Given the description of an element on the screen output the (x, y) to click on. 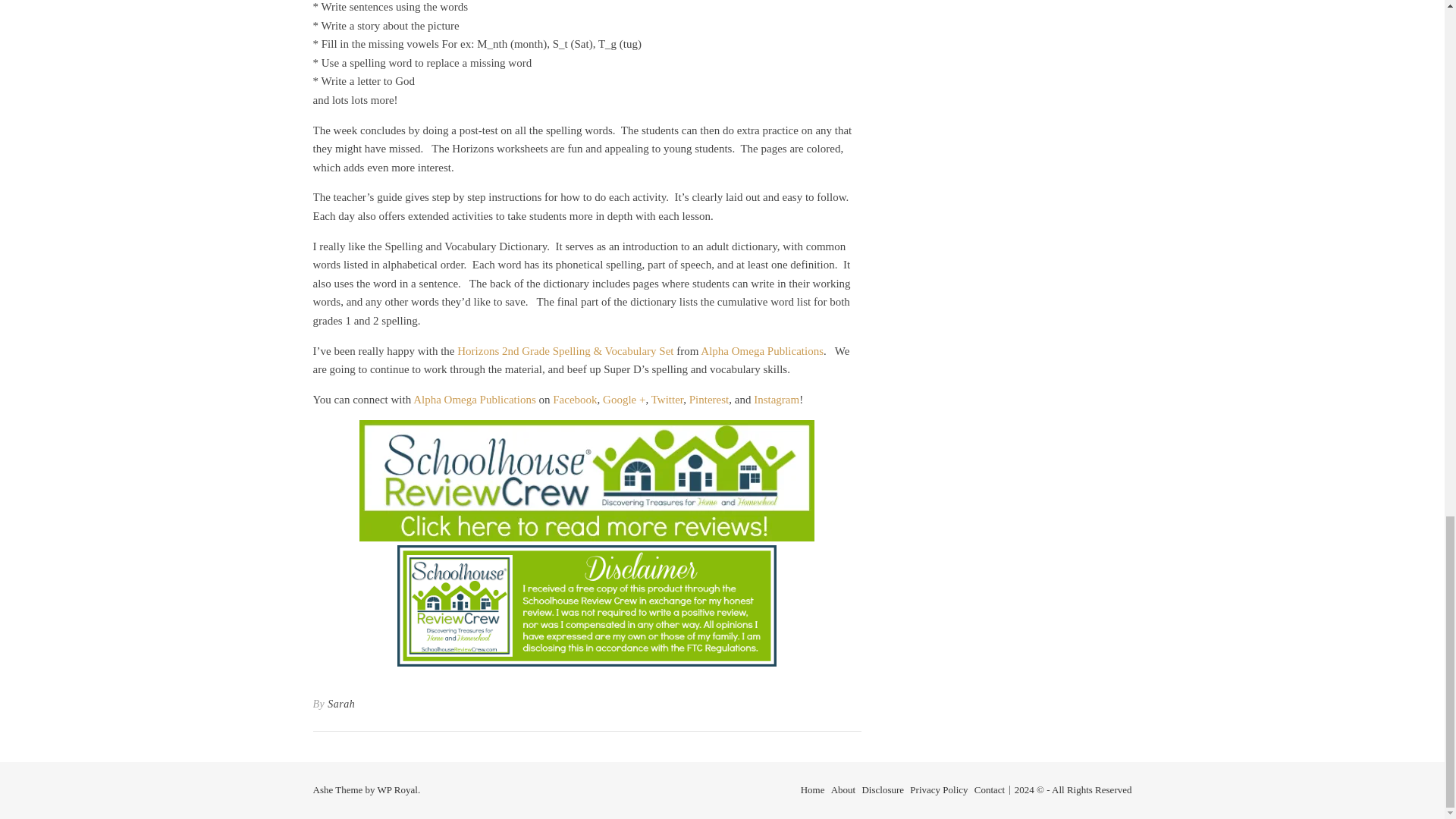
About (843, 789)
Posts by Sarah (341, 703)
Instagram (776, 399)
Twitter (667, 399)
Facebook (574, 399)
Home (812, 789)
Alpha Omega Publications (762, 350)
Sarah (341, 703)
Disclosure (882, 789)
Pinterest (708, 399)
